Given the description of an element on the screen output the (x, y) to click on. 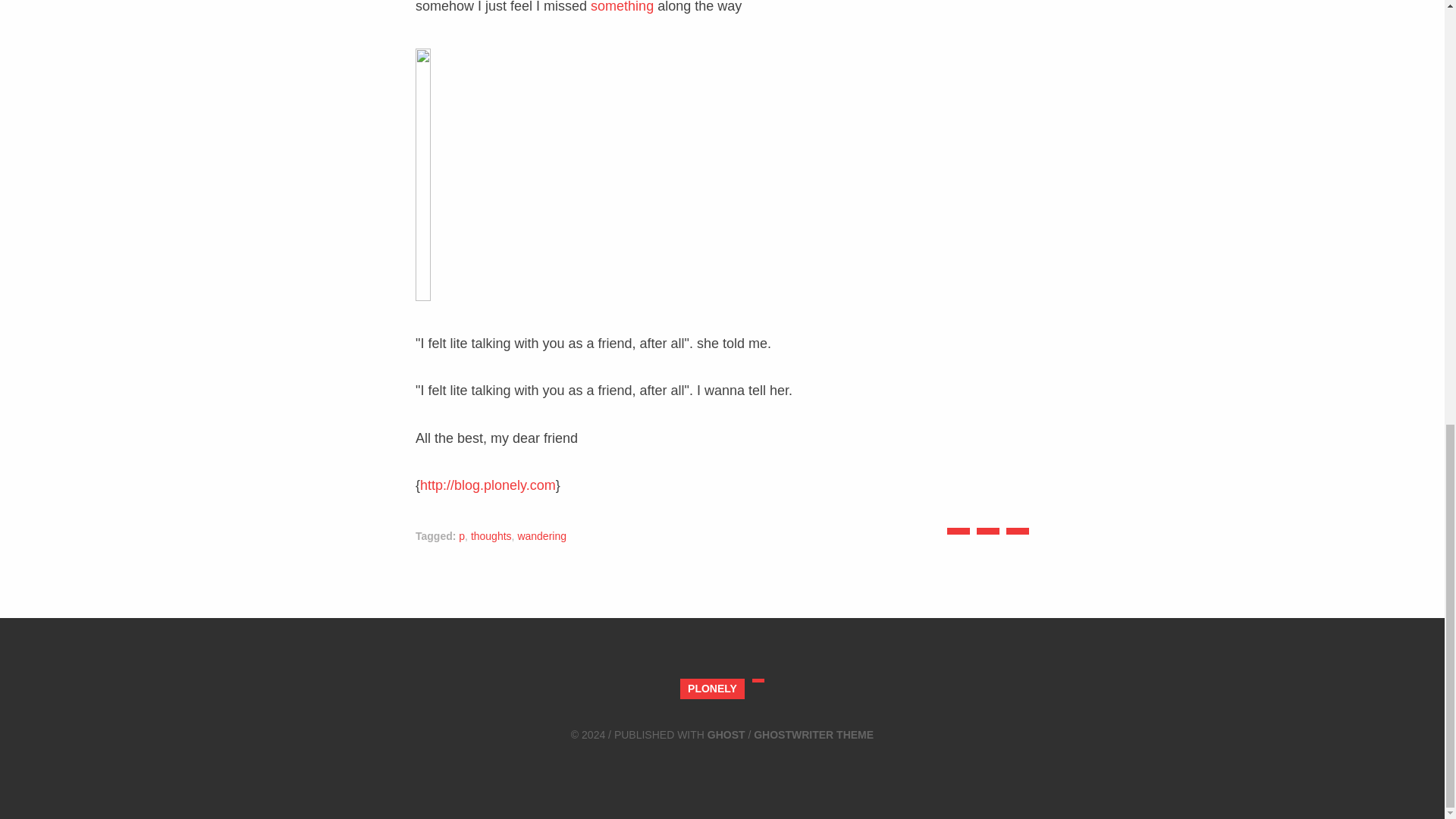
wandering (541, 535)
GHOSTWRITER THEME (813, 734)
Plonely (711, 688)
train (604, 174)
something (622, 6)
thoughts (491, 535)
PLONELY (711, 688)
GHOST (726, 734)
